Given the description of an element on the screen output the (x, y) to click on. 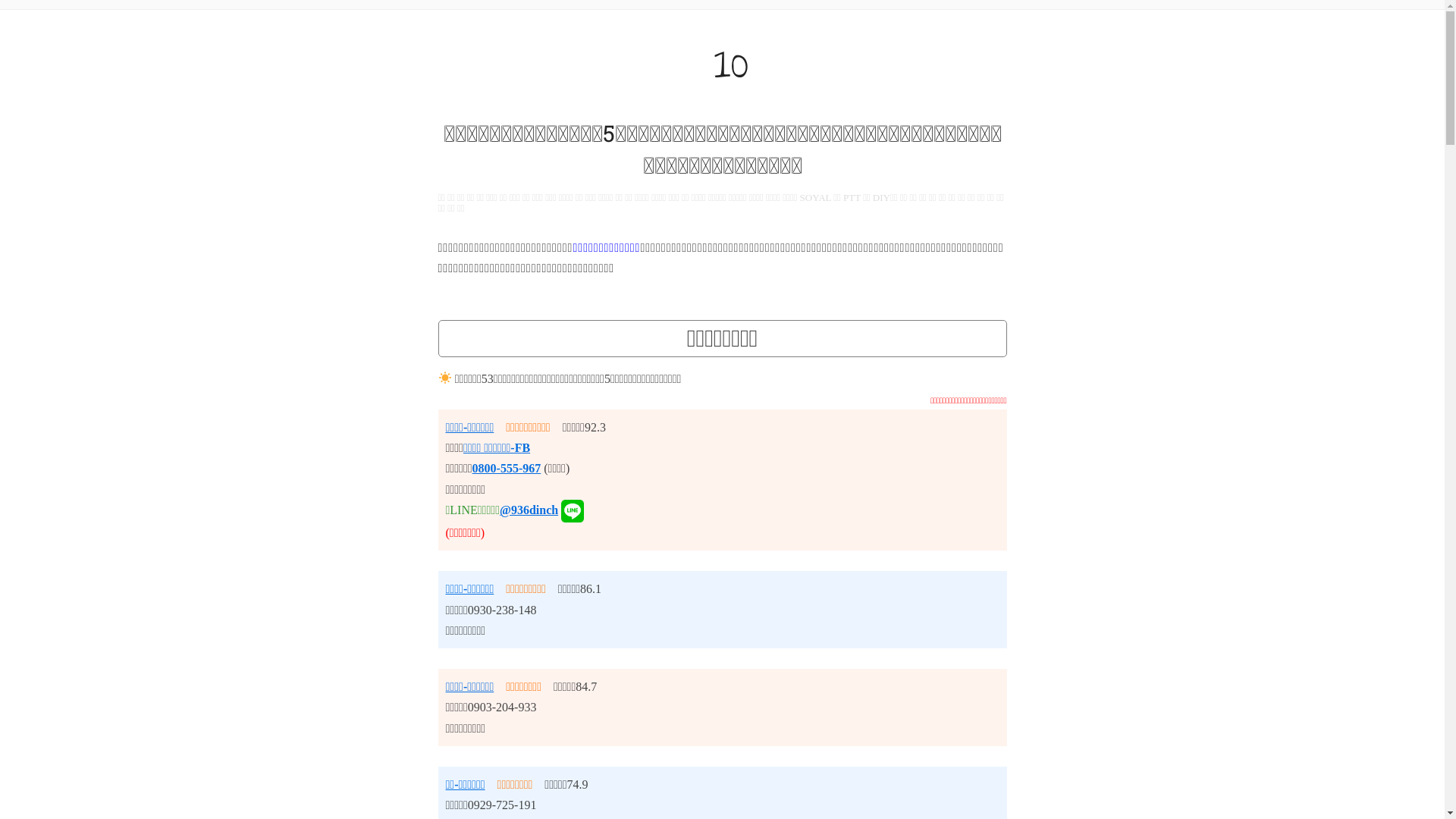
0800-555-967 Element type: text (506, 467)
@936dinch Element type: text (528, 509)
